Given the description of an element on the screen output the (x, y) to click on. 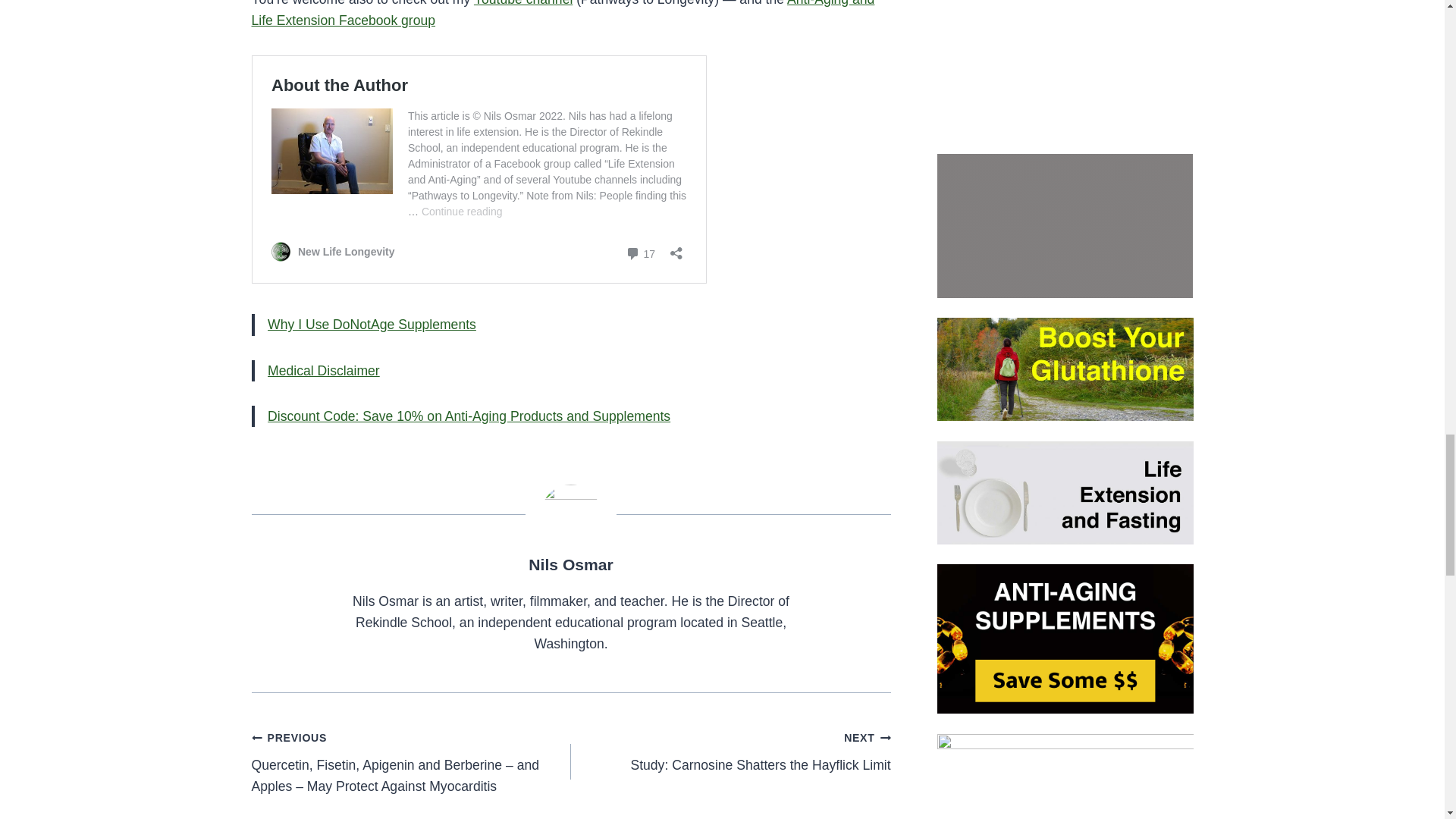
Posts by Nils Osmar (570, 122)
